Given the description of an element on the screen output the (x, y) to click on. 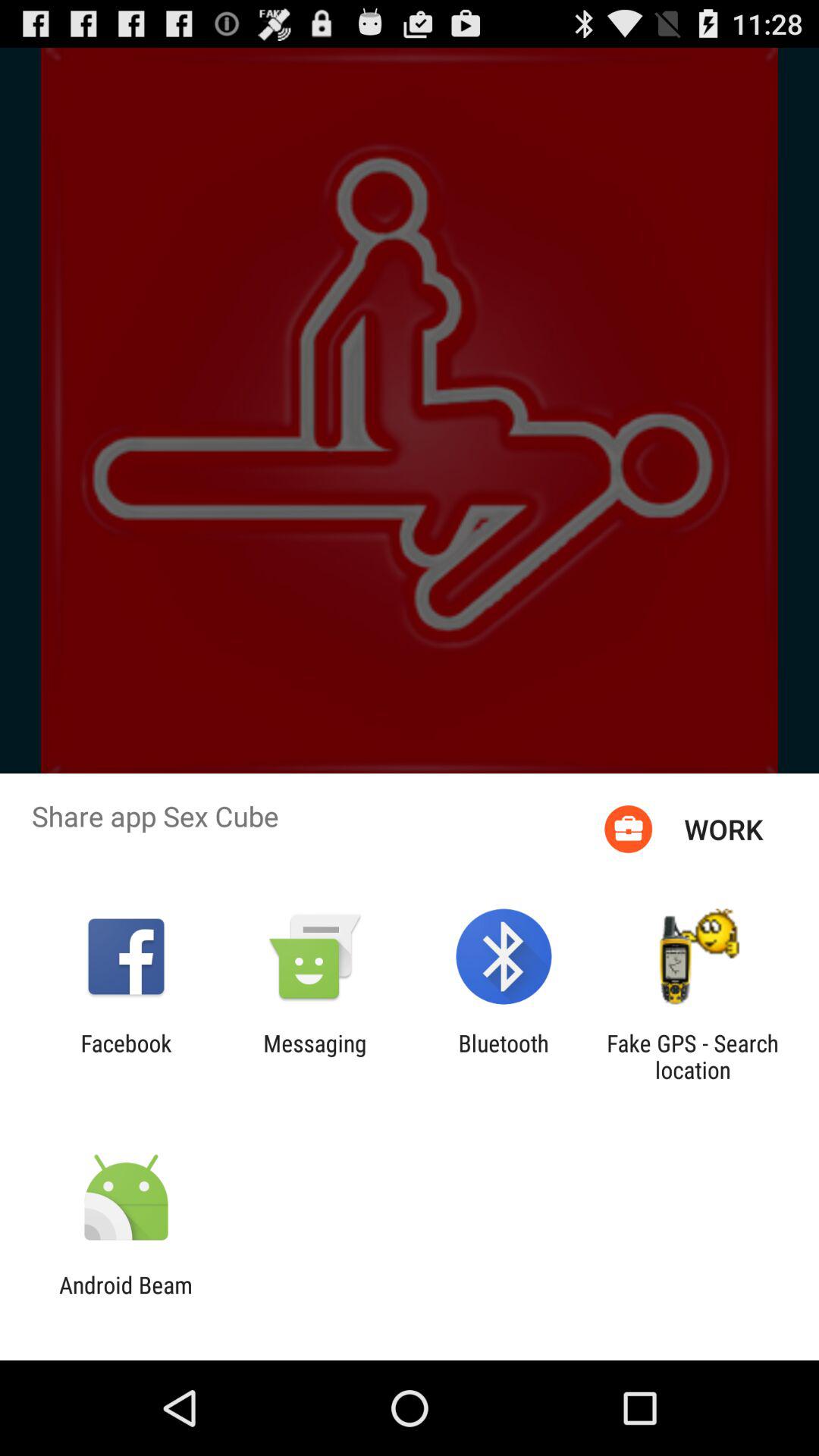
select the icon to the right of facebook (314, 1056)
